Given the description of an element on the screen output the (x, y) to click on. 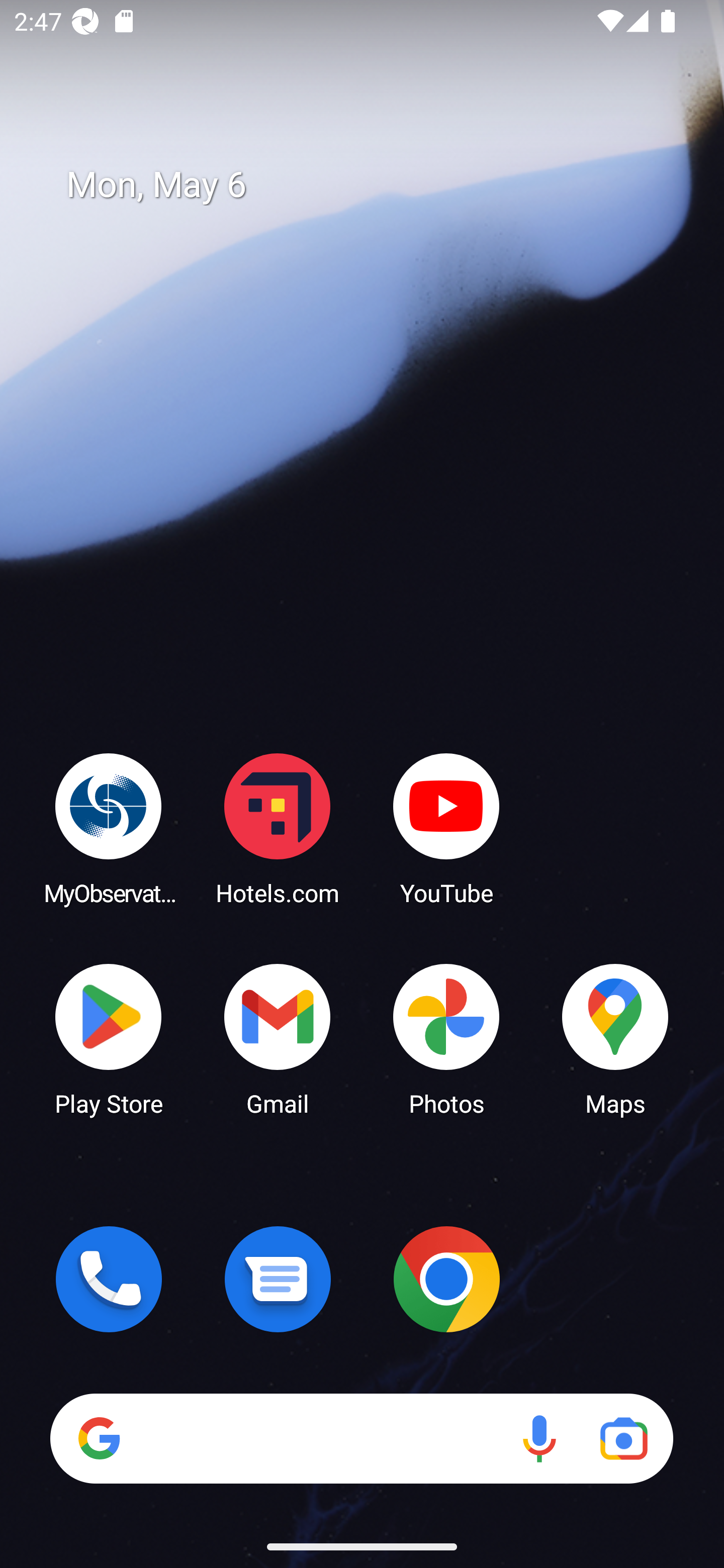
Mon, May 6 (375, 184)
MyObservatory (108, 828)
Hotels.com (277, 828)
YouTube (445, 828)
Play Store (108, 1038)
Gmail (277, 1038)
Photos (445, 1038)
Maps (615, 1038)
Phone (108, 1279)
Messages (277, 1279)
Chrome (446, 1279)
Search Voice search Google Lens (361, 1438)
Voice search (539, 1438)
Google Lens (623, 1438)
